Given the description of an element on the screen output the (x, y) to click on. 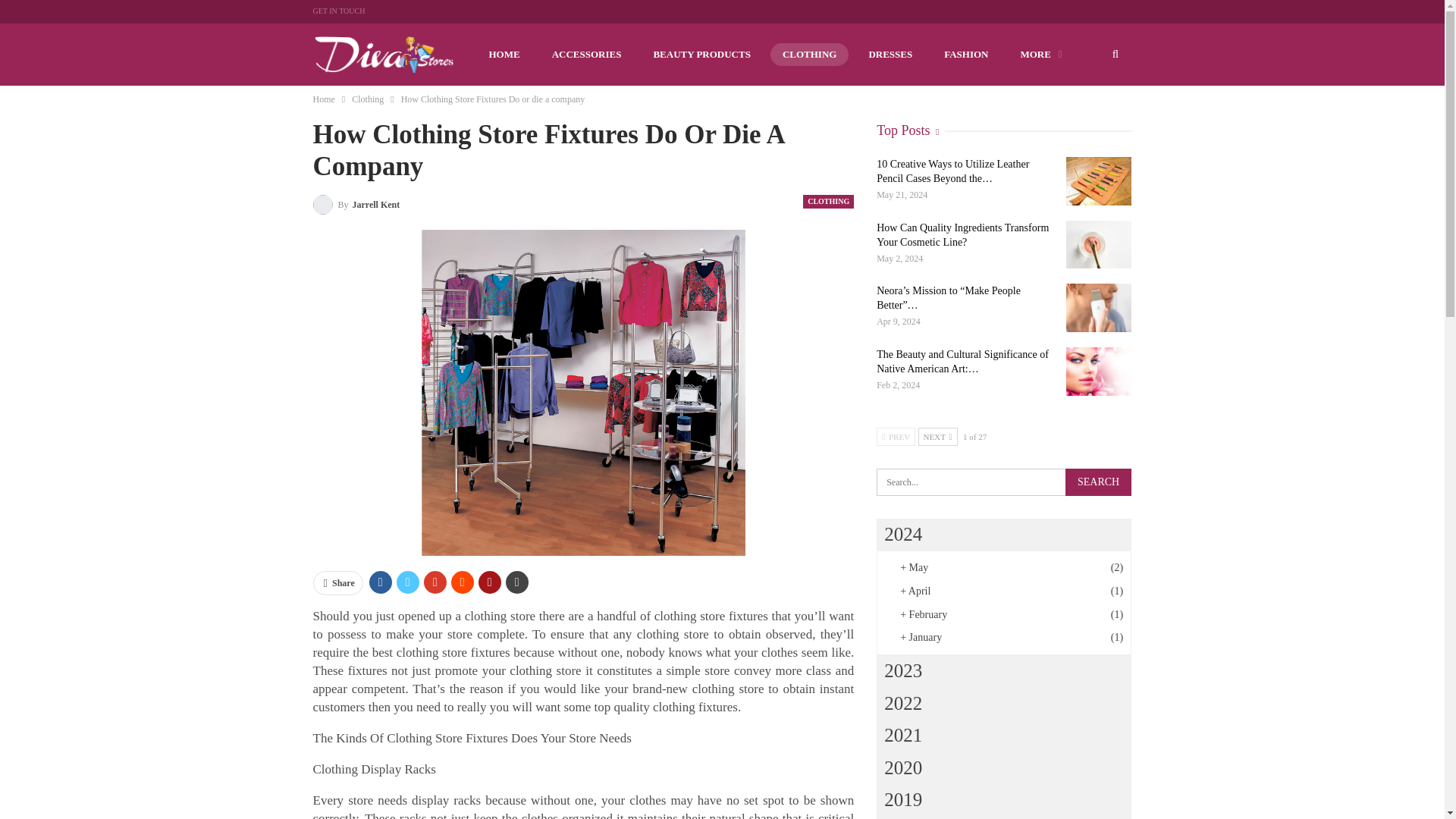
Browse Author Articles (355, 204)
By Jarrell Kent (355, 204)
DRESSES (890, 54)
Clothing (368, 98)
Search (1098, 482)
CLOTHING (809, 54)
GET IN TOUCH (339, 10)
CLOTHING (828, 201)
ACCESSORIES (586, 54)
FASHION (965, 54)
MORE (1040, 54)
Home (323, 98)
HOME (503, 54)
